Given the description of an element on the screen output the (x, y) to click on. 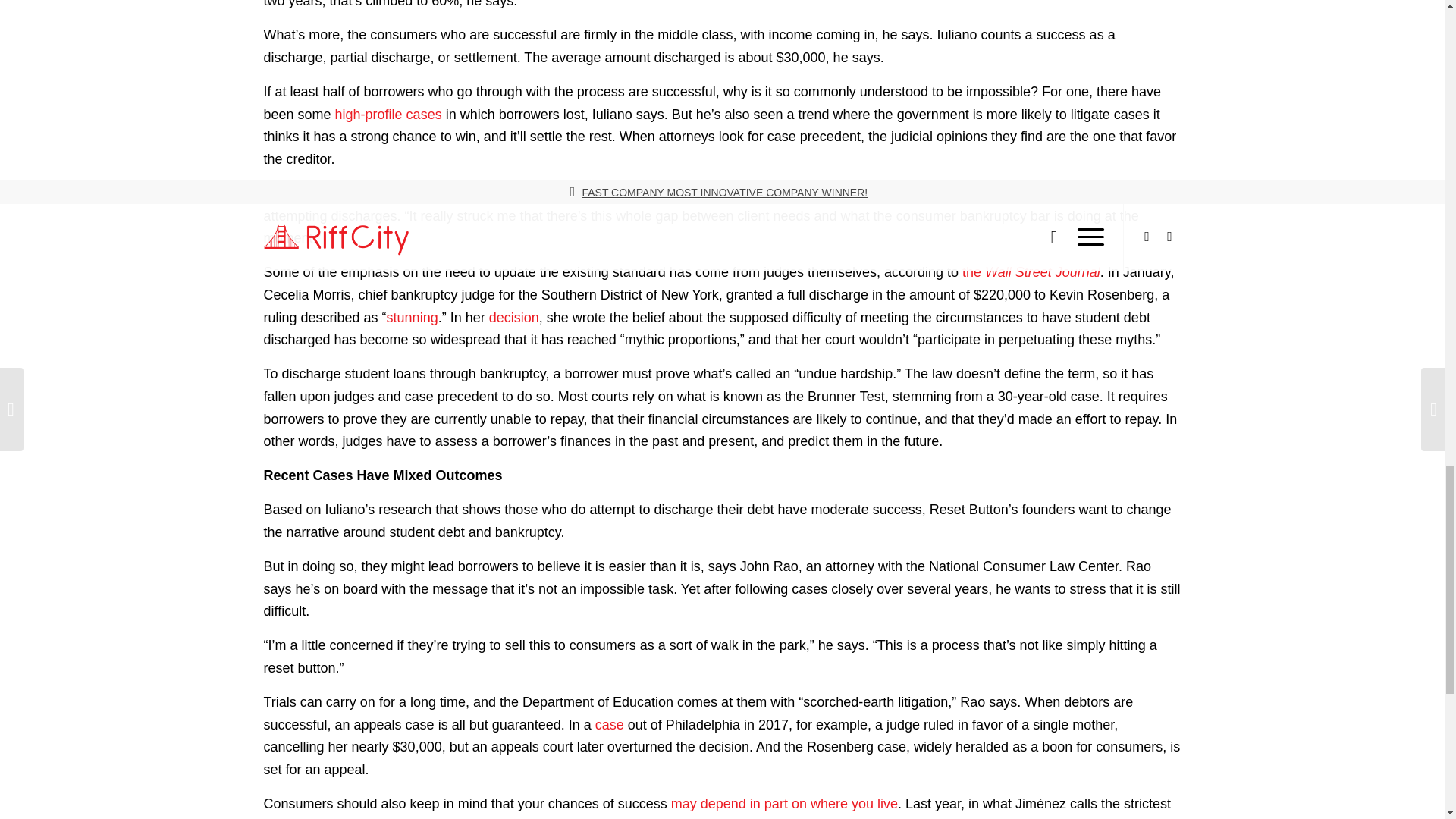
stunning (412, 317)
high-profile cases (388, 114)
may depend in part on where you live (784, 803)
 the Wall Street Journal (1029, 272)
case (609, 724)
decision (513, 317)
